Given the description of an element on the screen output the (x, y) to click on. 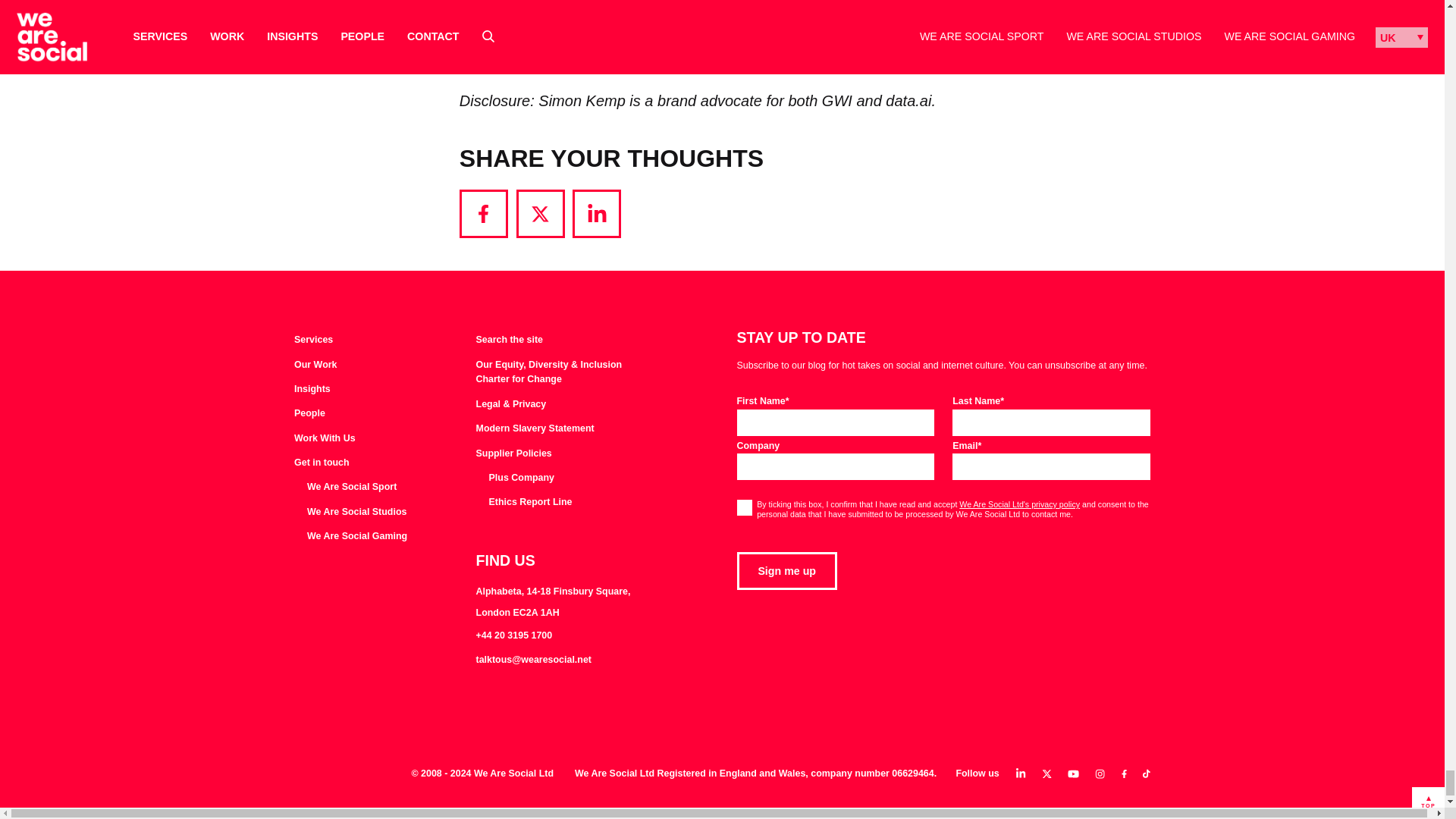
Insights (312, 389)
About (309, 413)
Work (315, 365)
Share via LinkedIn (596, 213)
Share via Twitter (540, 213)
Get in Touch (321, 462)
Services (313, 340)
Share via Facebook (484, 213)
